Given the description of an element on the screen output the (x, y) to click on. 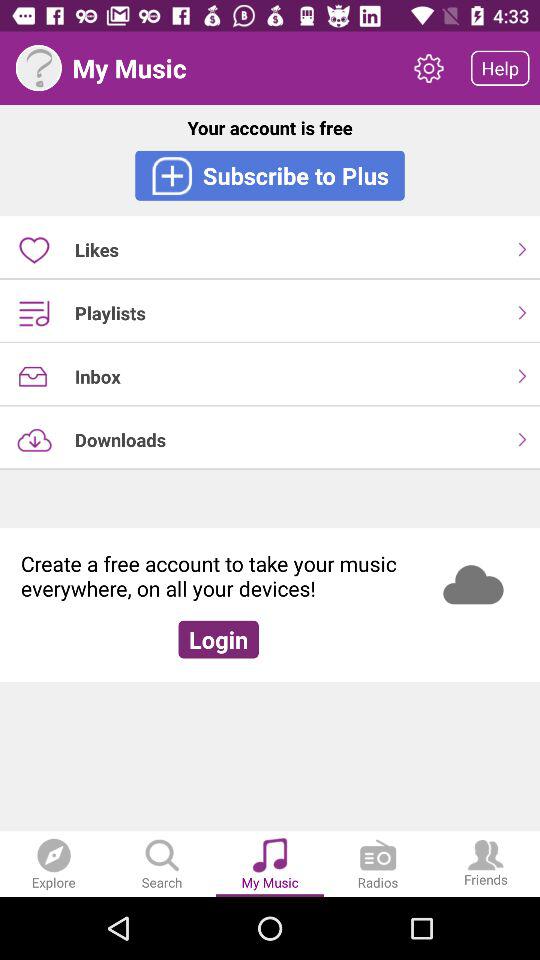
add picture (38, 68)
